Given the description of an element on the screen output the (x, y) to click on. 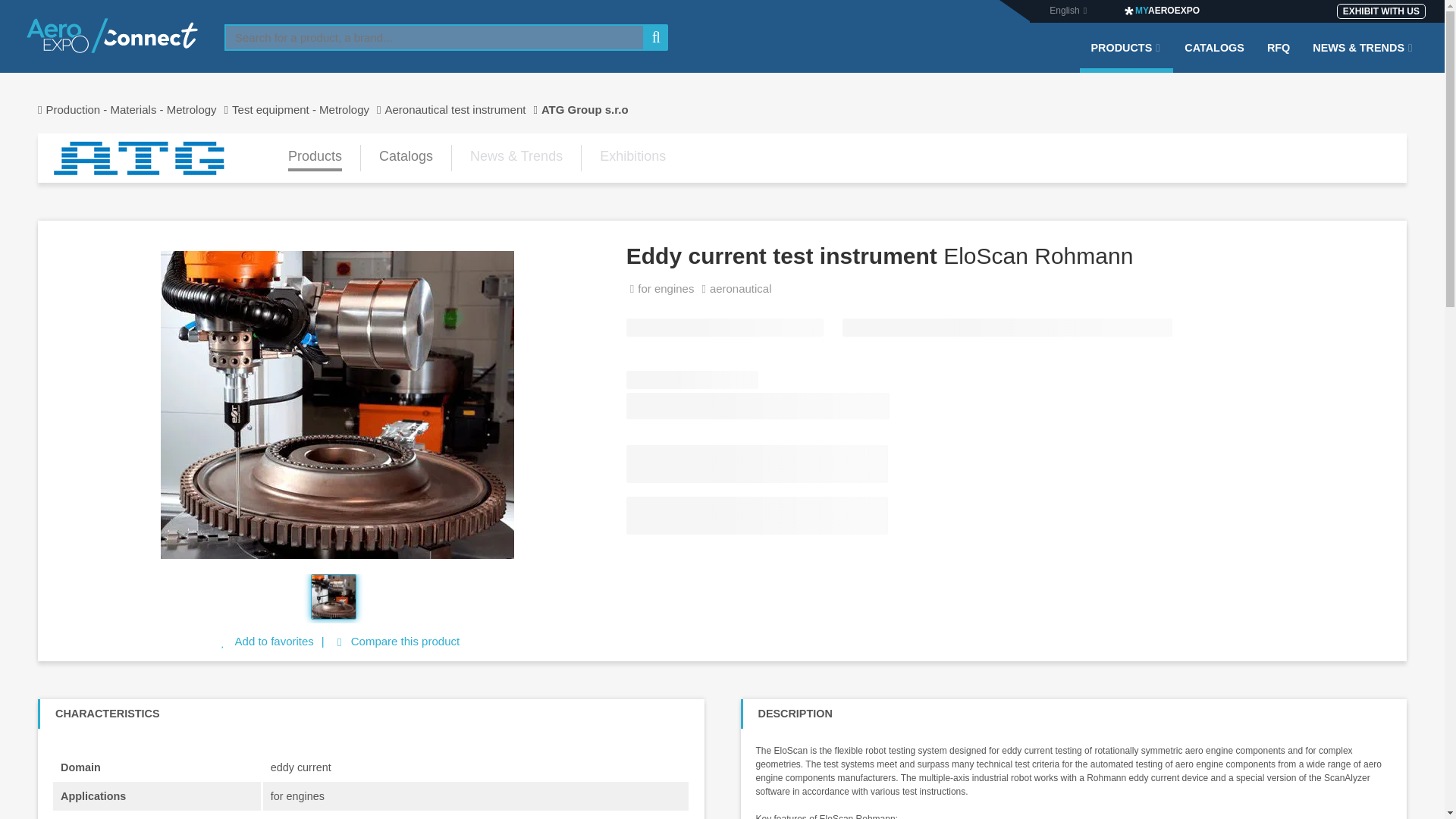
CATALOGS (1214, 56)
PRODUCTS (1126, 56)
Catalogs (405, 157)
EXHIBIT WITH US (1380, 11)
Production - Materials - Metrology (134, 109)
Aeronautical test instrument (462, 109)
RFQ (1278, 56)
English (1063, 9)
Test equipment - Metrology (307, 109)
Products (315, 157)
